Given the description of an element on the screen output the (x, y) to click on. 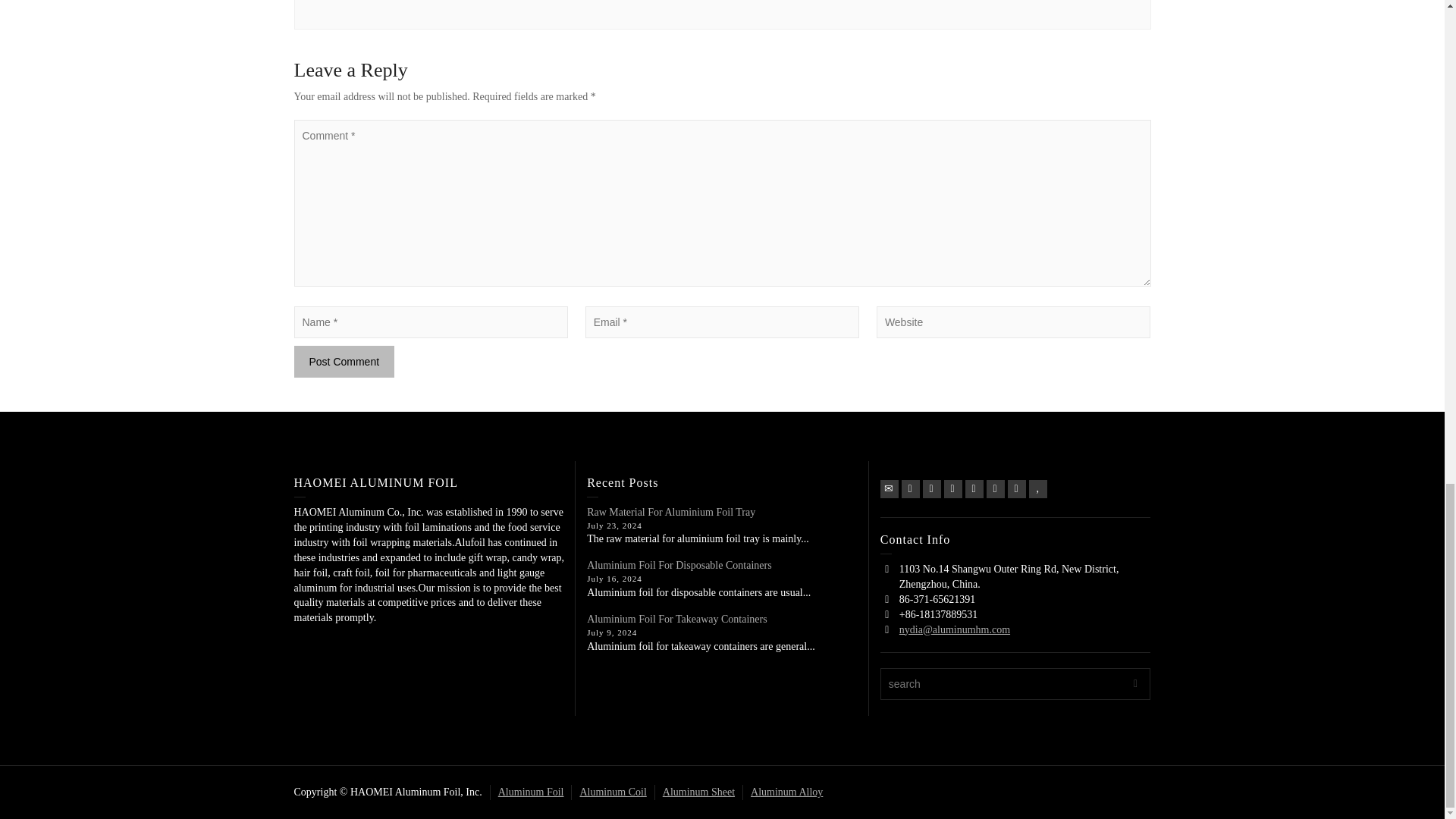
Aluminium Foil For Disposable Containers (678, 564)
Aluminium Foil For Takeaway Containers (676, 618)
Post Comment (344, 361)
Post Comment (344, 361)
Raw Material For Aluminium Foil Tray (670, 511)
